Given the description of an element on the screen output the (x, y) to click on. 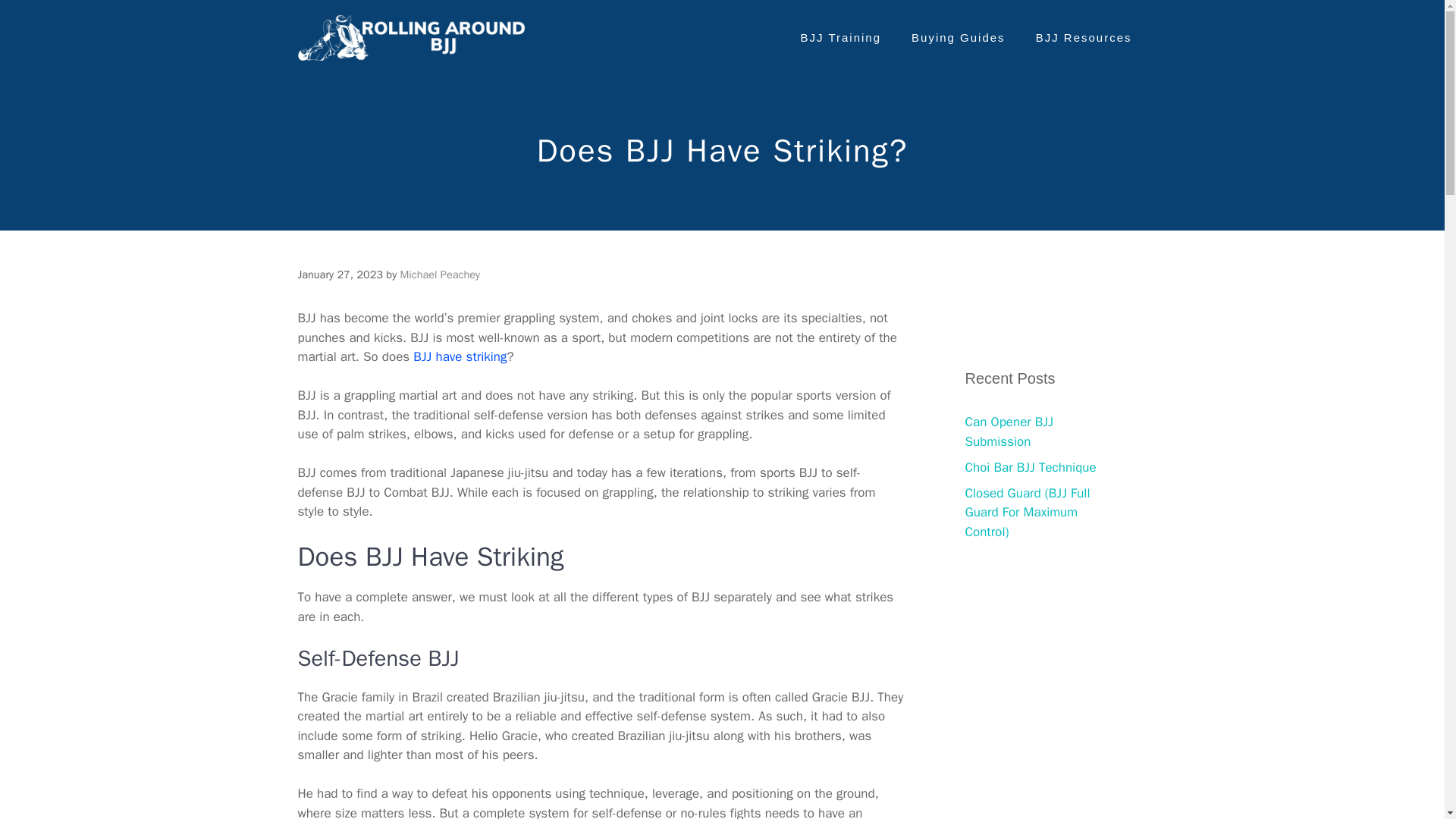
Choi Bar BJJ Technique (1029, 467)
BJJ have striking (459, 356)
View all posts by Michael Peachey (440, 274)
BJJ Resources (1083, 37)
BJJ Training (841, 37)
Michael Peachey (440, 274)
Can Opener BJJ Submission (1007, 431)
Buying Guides (958, 37)
